Given the description of an element on the screen output the (x, y) to click on. 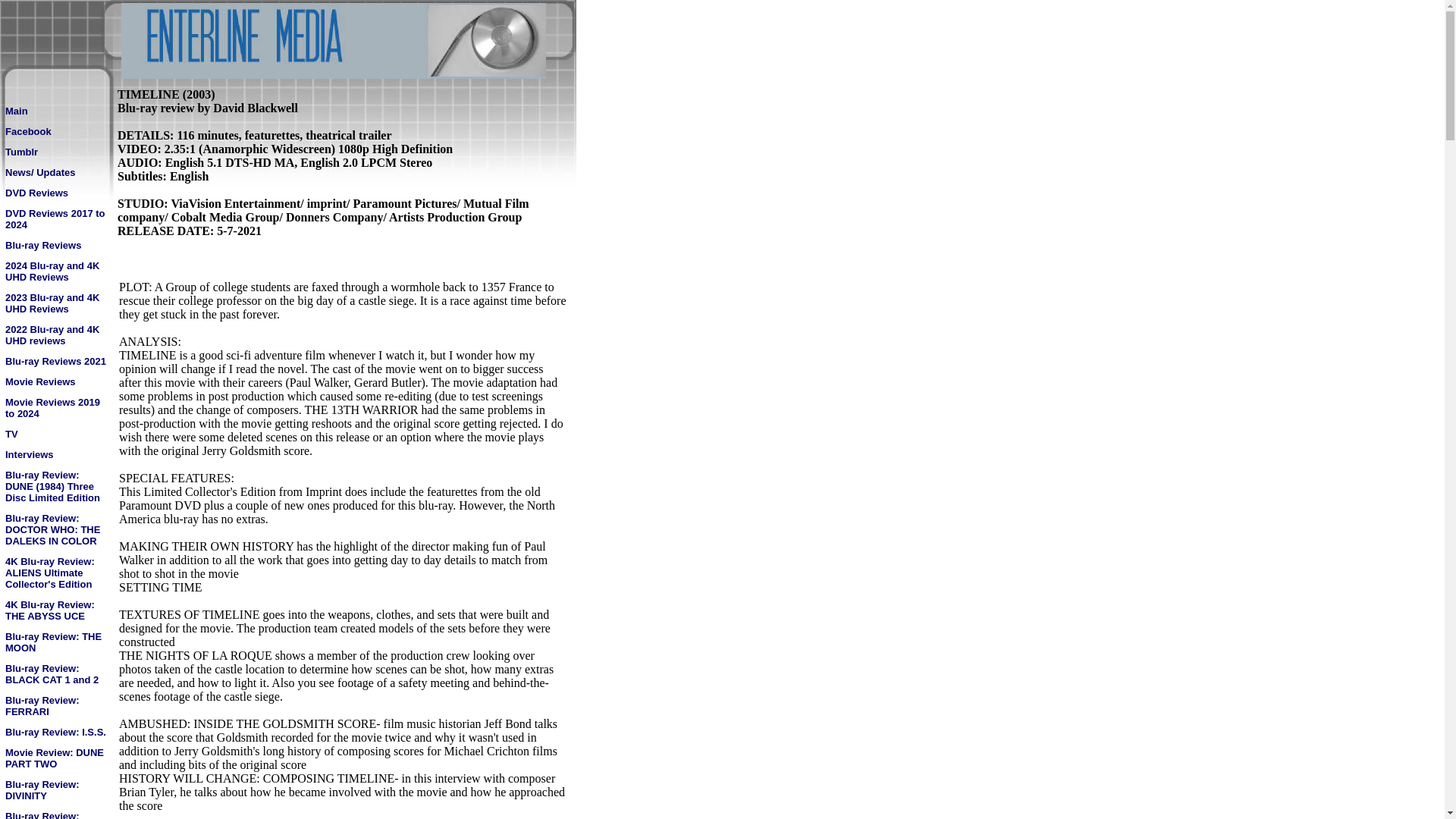
Blu-ray Review: I.S.S. (55, 730)
Tumblr (21, 151)
Movie Reviews (40, 380)
2022 Blu-ray and 4K UHD reviews (52, 334)
Blu-ray Review: DIVINITY (42, 789)
Blu-ray Reviews (43, 244)
TV (11, 432)
4K Blu-ray Review: THE ABYSS UCE (49, 609)
Blu-ray Review: APOCALYPSE TETRALOGY (42, 814)
4K Blu-ray Review: ALIENS Ultimate Collector's Edition (49, 571)
Blu-ray Reviews 2021 (55, 359)
Main (16, 110)
Facebook (27, 130)
2024 Blu-ray and 4K UHD Reviews (52, 270)
Blu-ray Review: BLACK CAT 1 and 2 (52, 672)
